Given the description of an element on the screen output the (x, y) to click on. 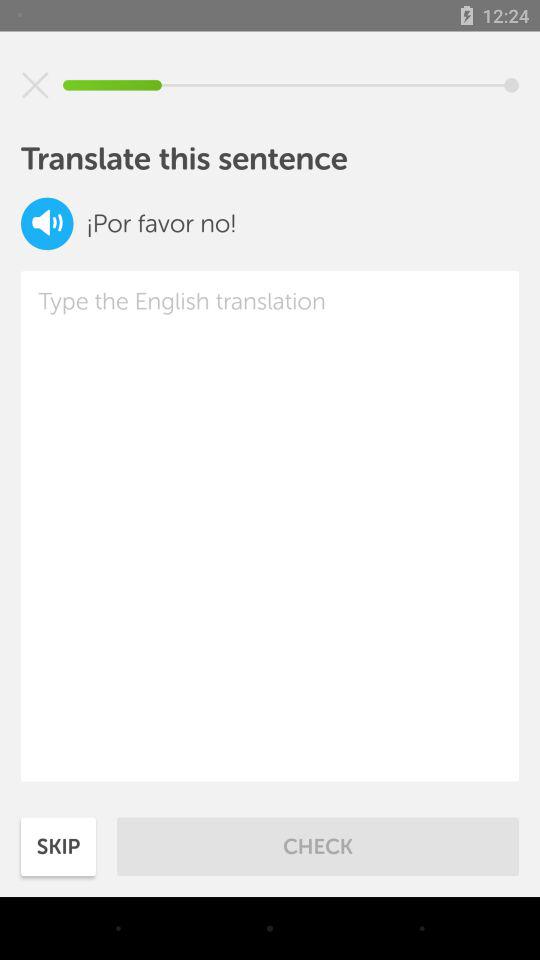
flip to skip item (58, 846)
